Given the description of an element on the screen output the (x, y) to click on. 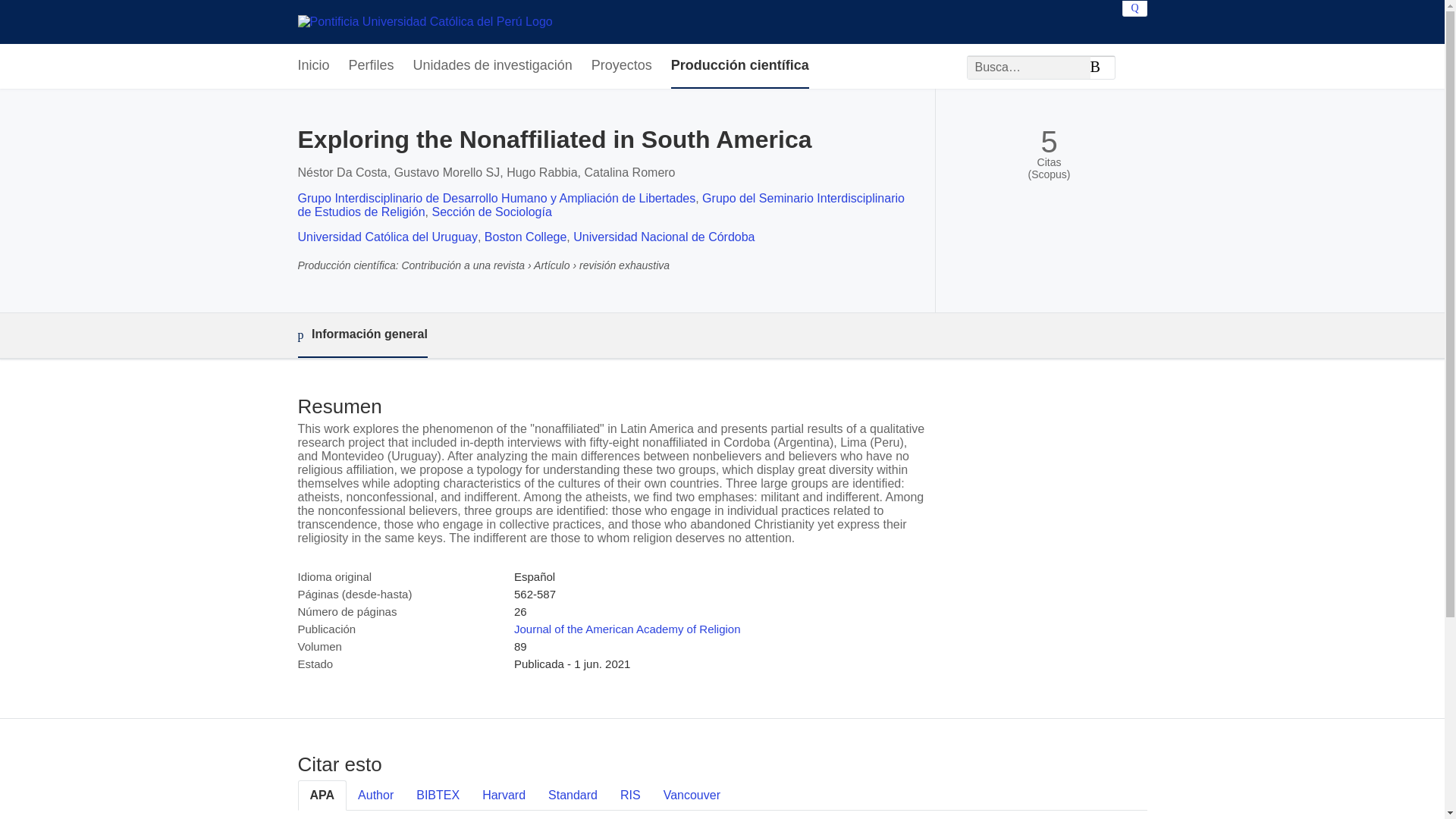
Proyectos (621, 66)
Boston College (525, 236)
Perfiles (371, 66)
Journal of the American Academy of Religion (627, 628)
